Given the description of an element on the screen output the (x, y) to click on. 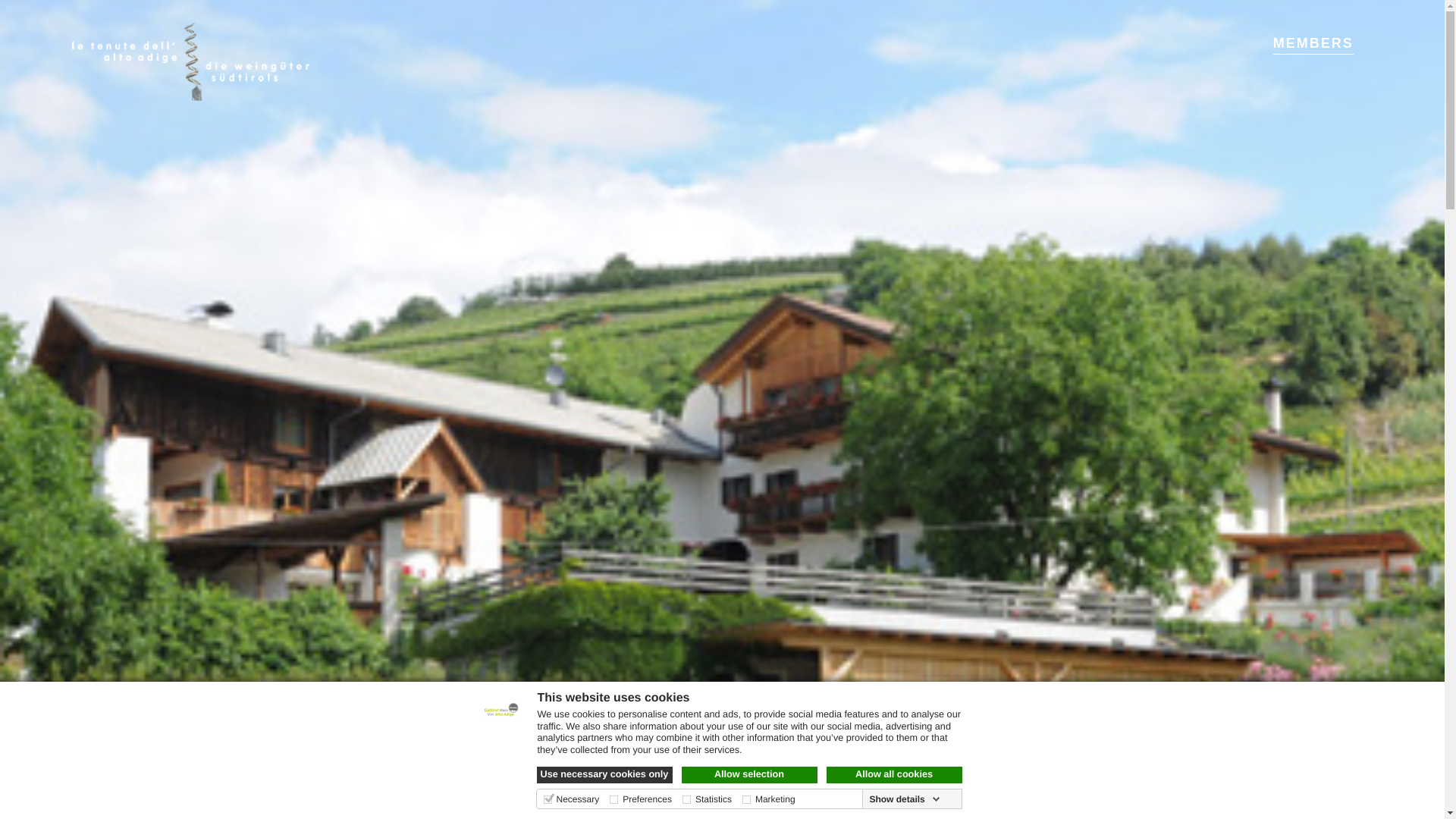
MEMBERS Element type: text (1313, 42)
Allow selection Element type: text (748, 774)
Show details Element type: text (904, 799)
Use necessary cookies only Element type: text (604, 774)
Allow all cookies Element type: text (894, 774)
